Given the description of an element on the screen output the (x, y) to click on. 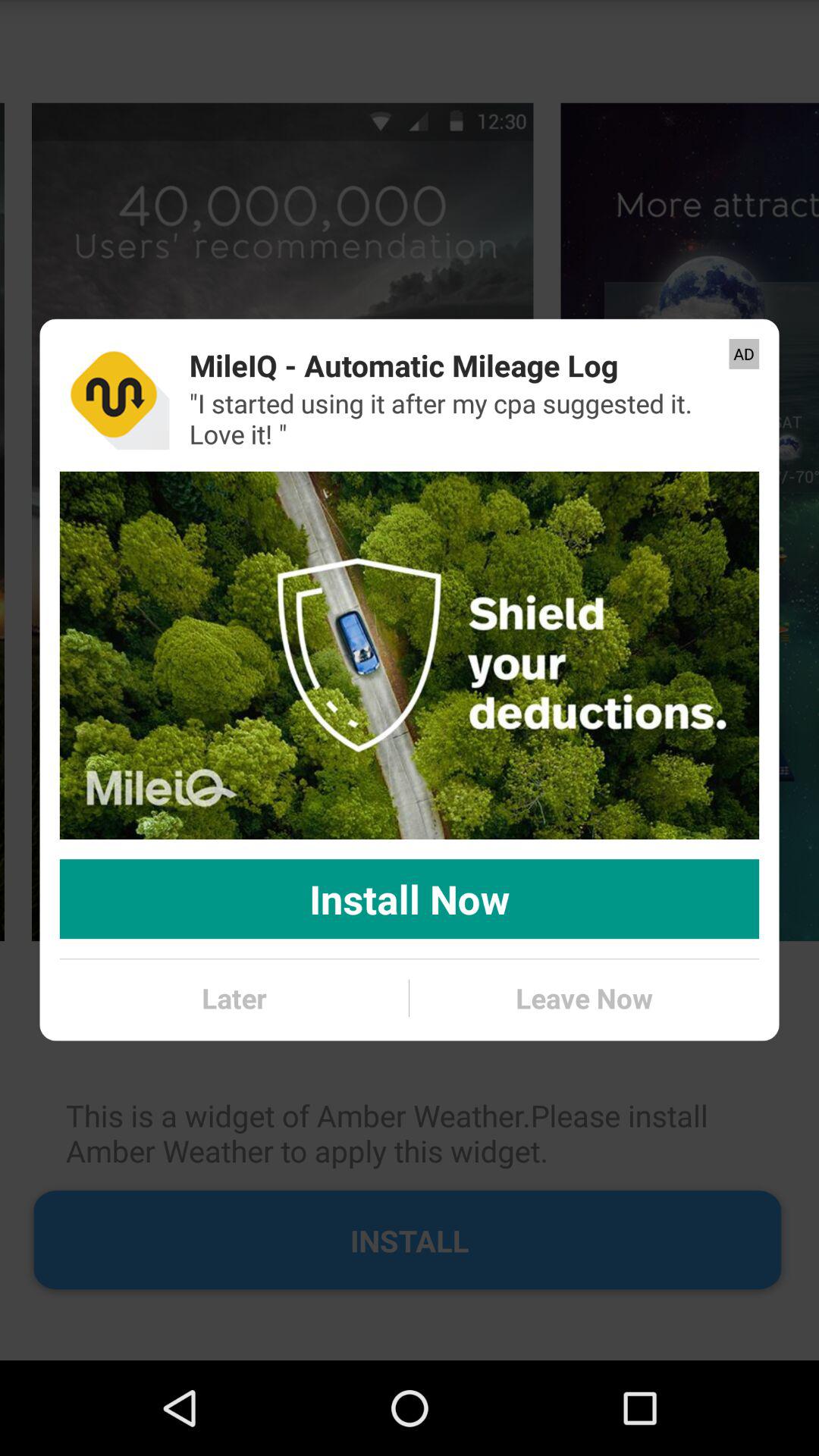
jump until later (233, 997)
